Given the description of an element on the screen output the (x, y) to click on. 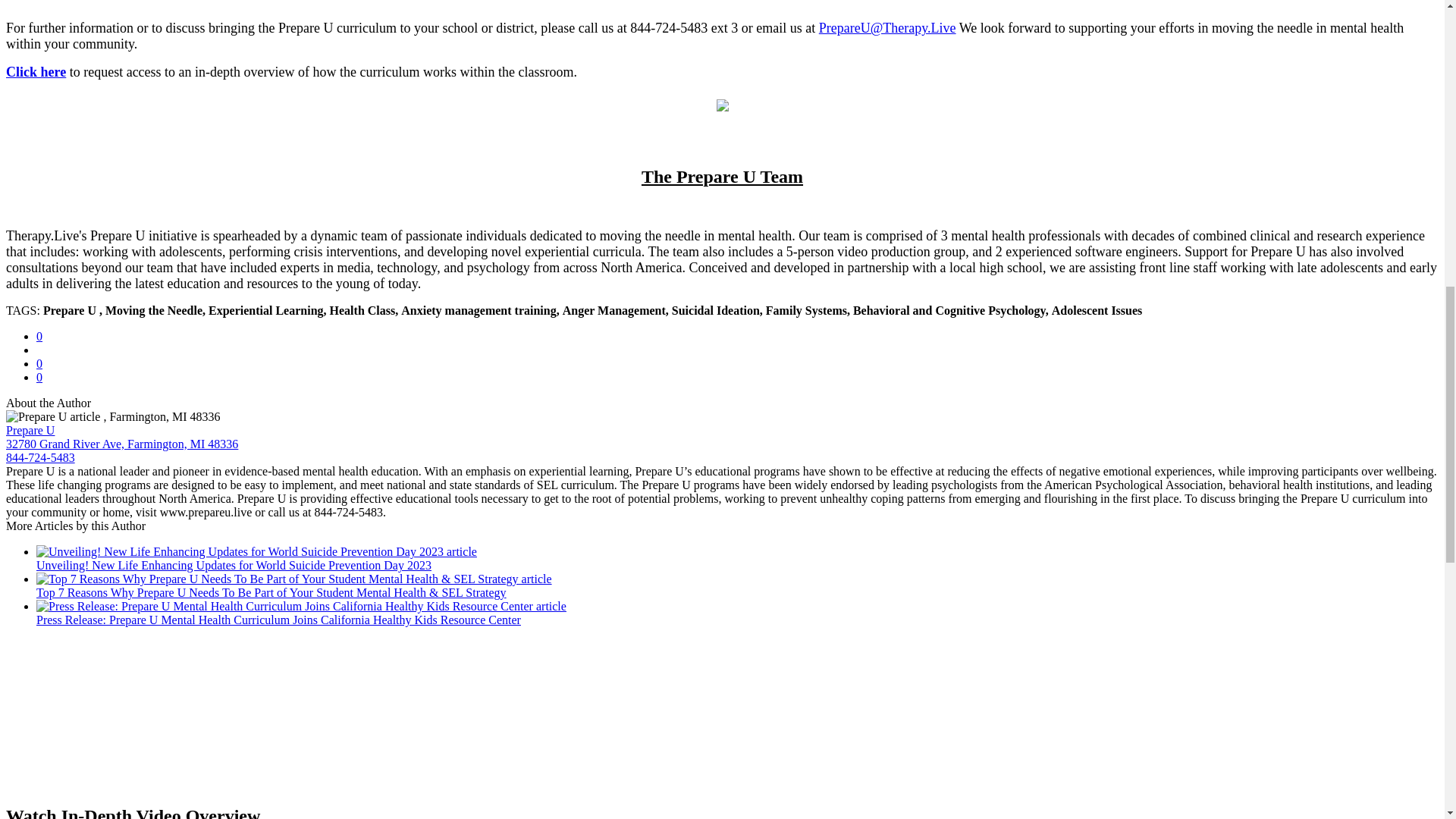
32780 Grand River Ave, Farmington, MI 48336 (121, 443)
844-724-5483 (40, 457)
Click here (35, 71)
Prepare U (30, 430)
